Given the description of an element on the screen output the (x, y) to click on. 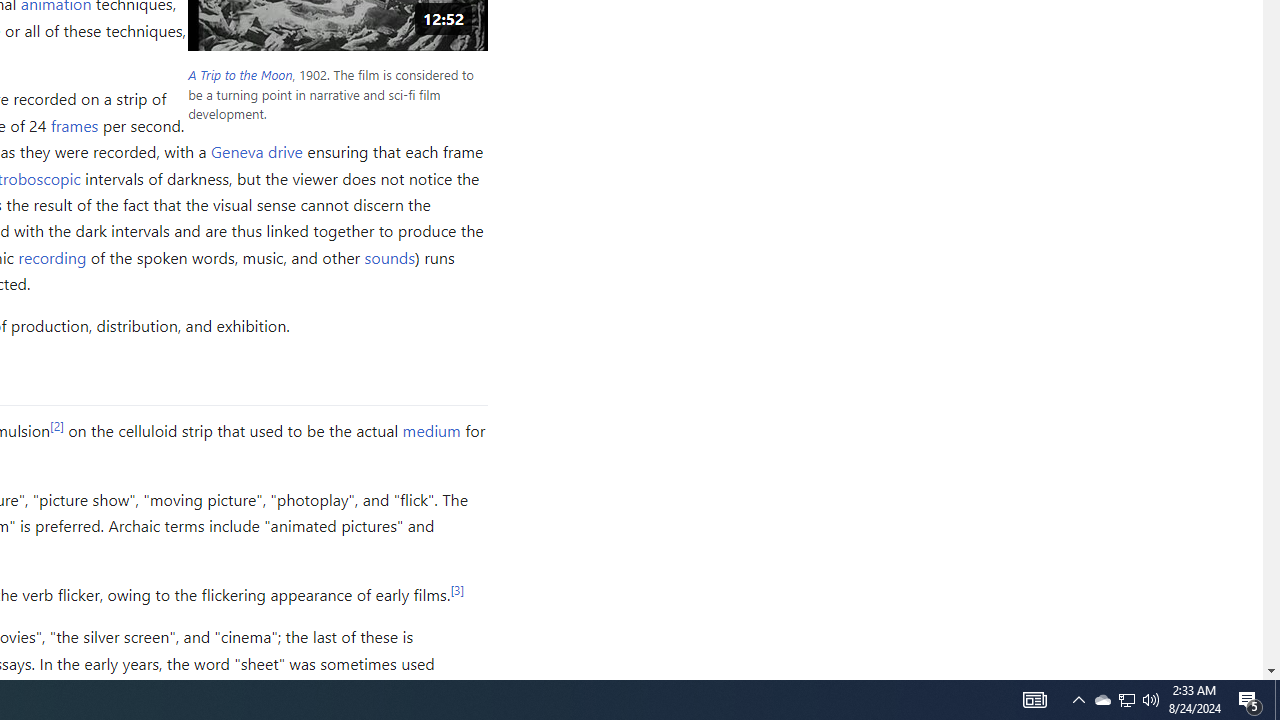
A Trip to the Moon (240, 75)
recording (52, 256)
sounds (388, 256)
Geneva drive (257, 151)
medium (430, 429)
[2] (56, 425)
[3] (457, 589)
frames (73, 124)
